Given the description of an element on the screen output the (x, y) to click on. 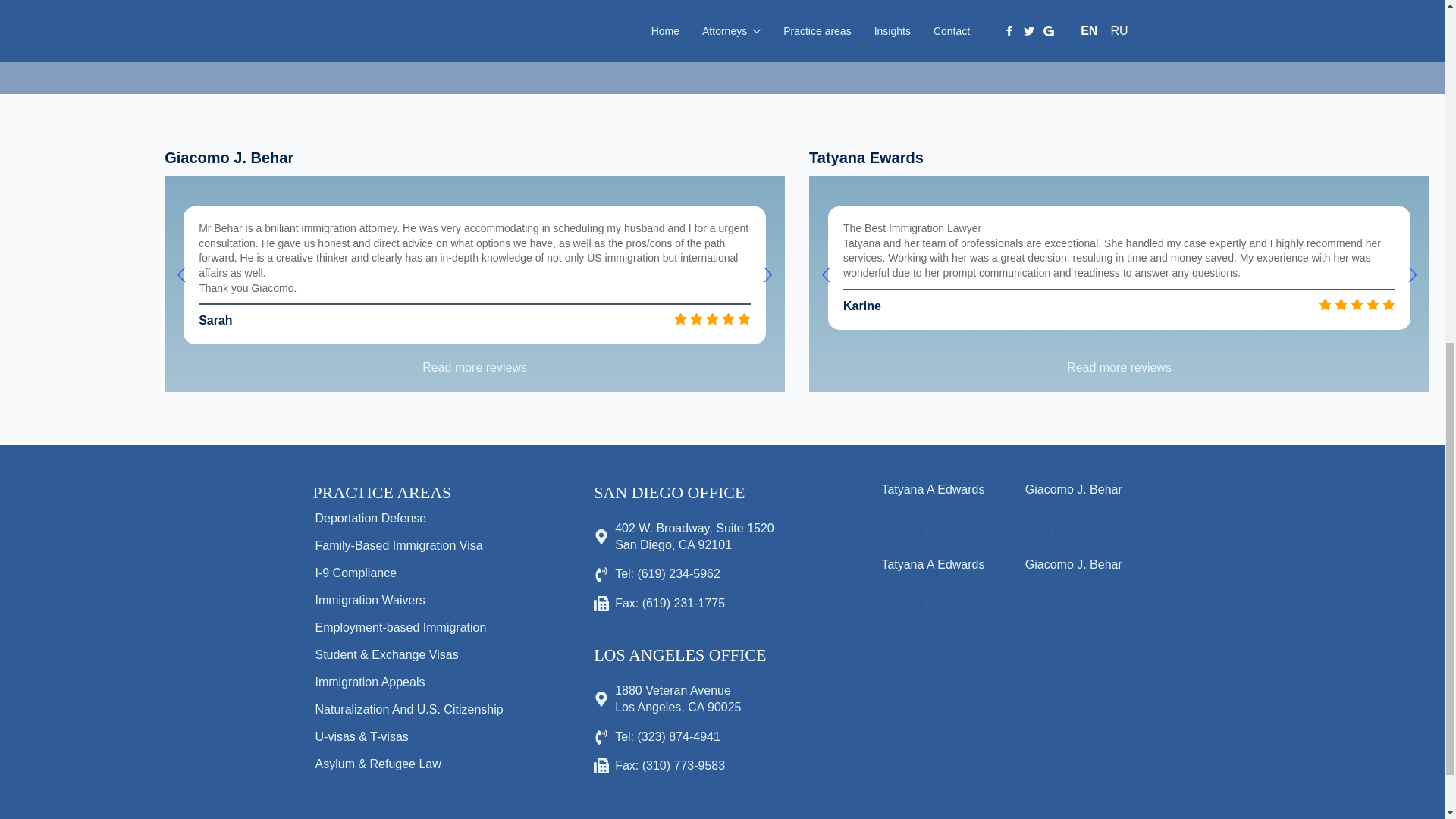
Lawyer Immigration (1055, 539)
Lawyer Tatyana Edwards (917, 521)
Read more reviews (1119, 367)
I-9 Compliance (415, 573)
Naturalization And U.S. Citizenship (415, 709)
Immigration Waivers (415, 600)
Lawyer Giacomo Behar (1060, 521)
Deportation Defense (415, 518)
Family-Based Immigration Visa (415, 545)
Read more reviews (474, 367)
Immigration Appeals (415, 682)
Employment-based Immigration (415, 627)
